Given the description of an element on the screen output the (x, y) to click on. 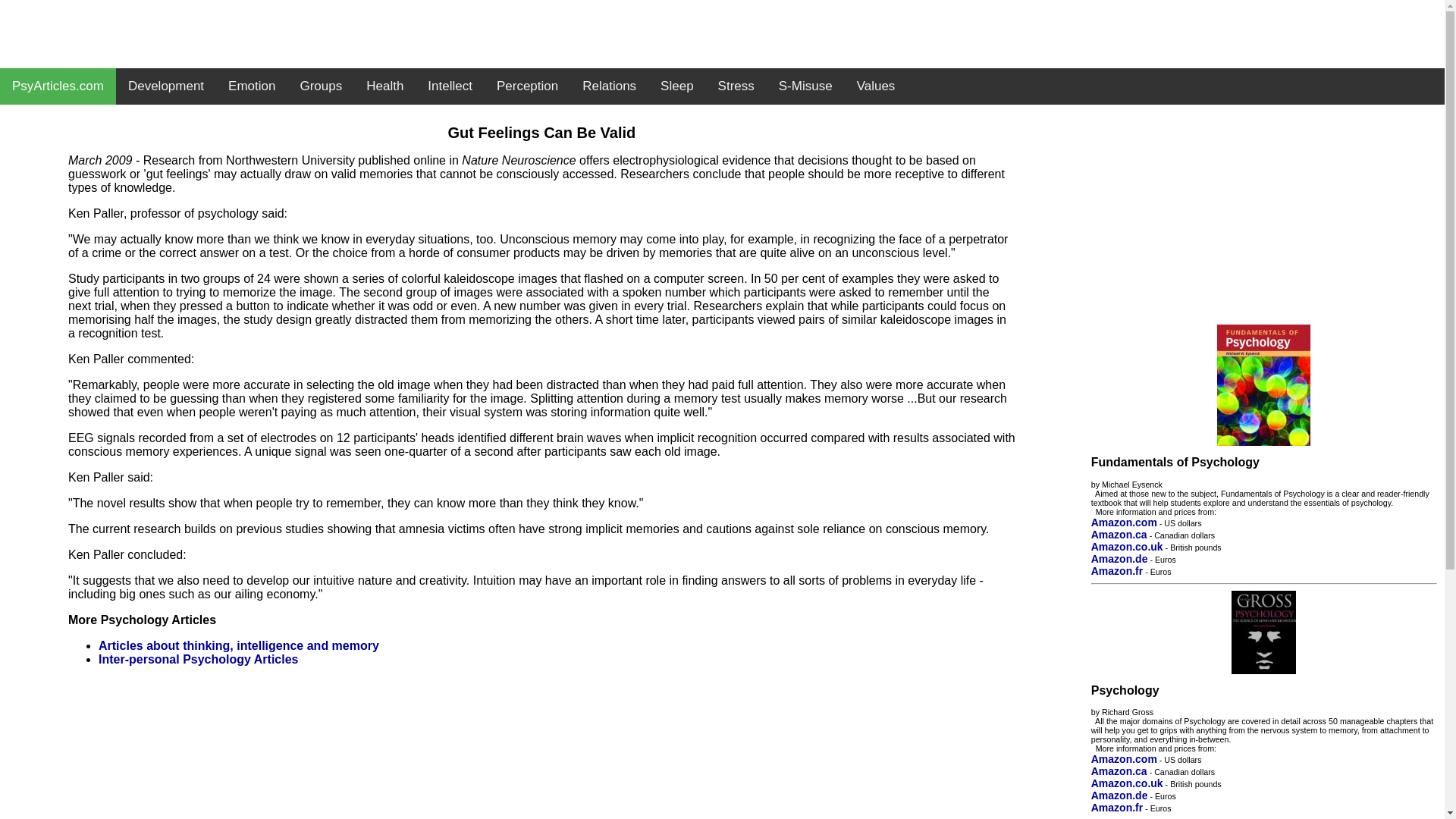
Groups (319, 85)
Development (165, 85)
PsyArticles.com (58, 85)
S-Misuse (805, 85)
Amazon.ca (1118, 534)
Perception (527, 85)
Sleep (675, 85)
Amazon.de (1119, 795)
Amazon.de (1119, 558)
Inter-personal Psychology Articles (198, 658)
Values (875, 85)
Amazon.com (1123, 758)
Health (383, 85)
Advertisement (721, 33)
Stress (736, 85)
